Given the description of an element on the screen output the (x, y) to click on. 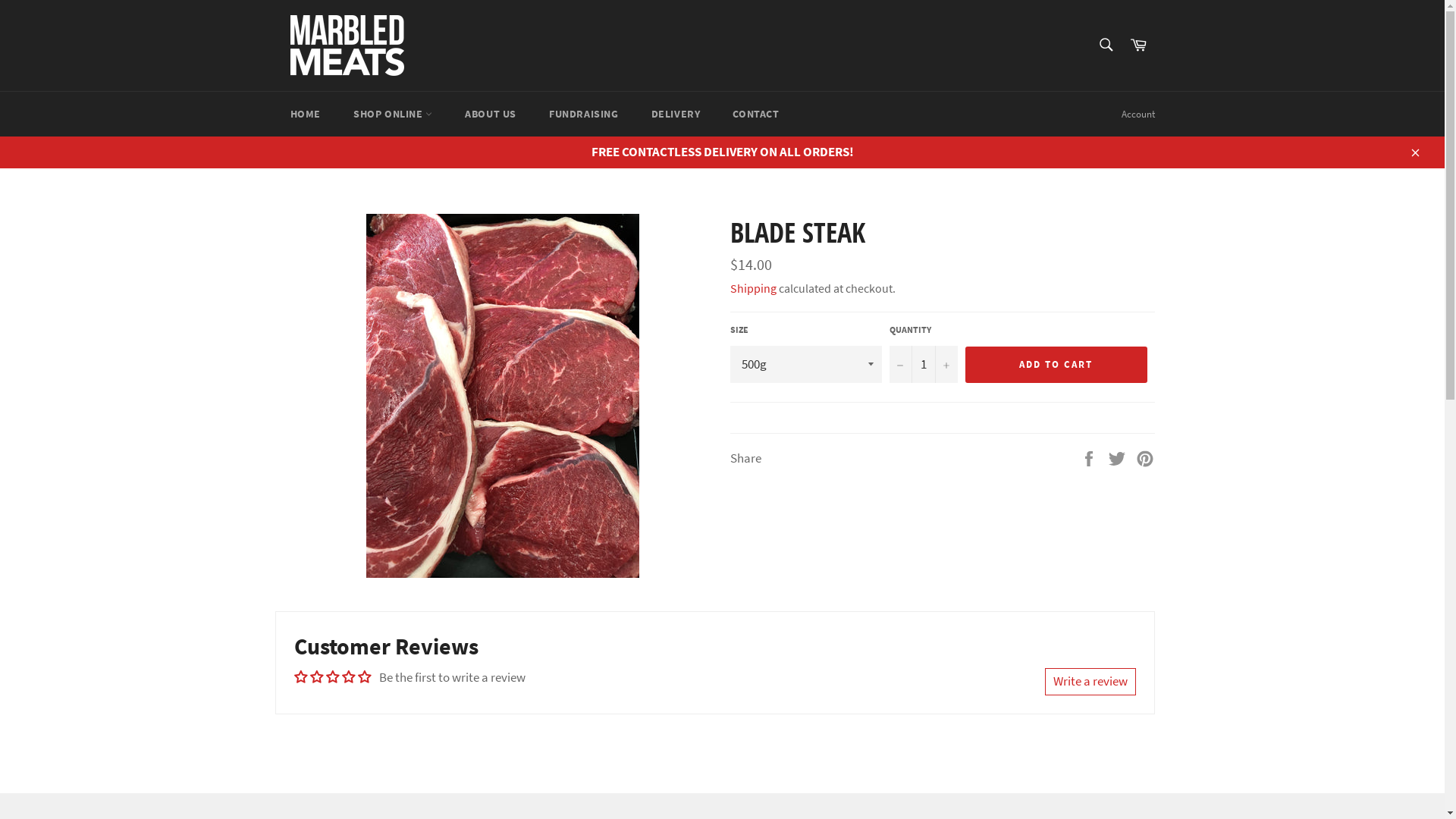
Account Element type: text (1137, 114)
Close Element type: text (1414, 151)
SHOP ONLINE Element type: text (392, 113)
CONTACT Element type: text (755, 113)
Search Element type: text (1105, 44)
Share on Facebook Element type: text (1089, 456)
Tweet on Twitter Element type: text (1117, 456)
ABOUT US Element type: text (490, 113)
+ Element type: text (945, 363)
DELIVERY Element type: text (675, 113)
Write a review Element type: text (1089, 681)
ADD TO CART Element type: text (1055, 364)
Shipping Element type: text (752, 287)
FREE CONTACTLESS DELIVERY ON ALL ORDERS! Element type: text (722, 151)
Pin on Pinterest Element type: text (1144, 456)
FUNDRAISING Element type: text (583, 113)
Cart Element type: text (1138, 45)
HOME Element type: text (304, 113)
